Given the description of an element on the screen output the (x, y) to click on. 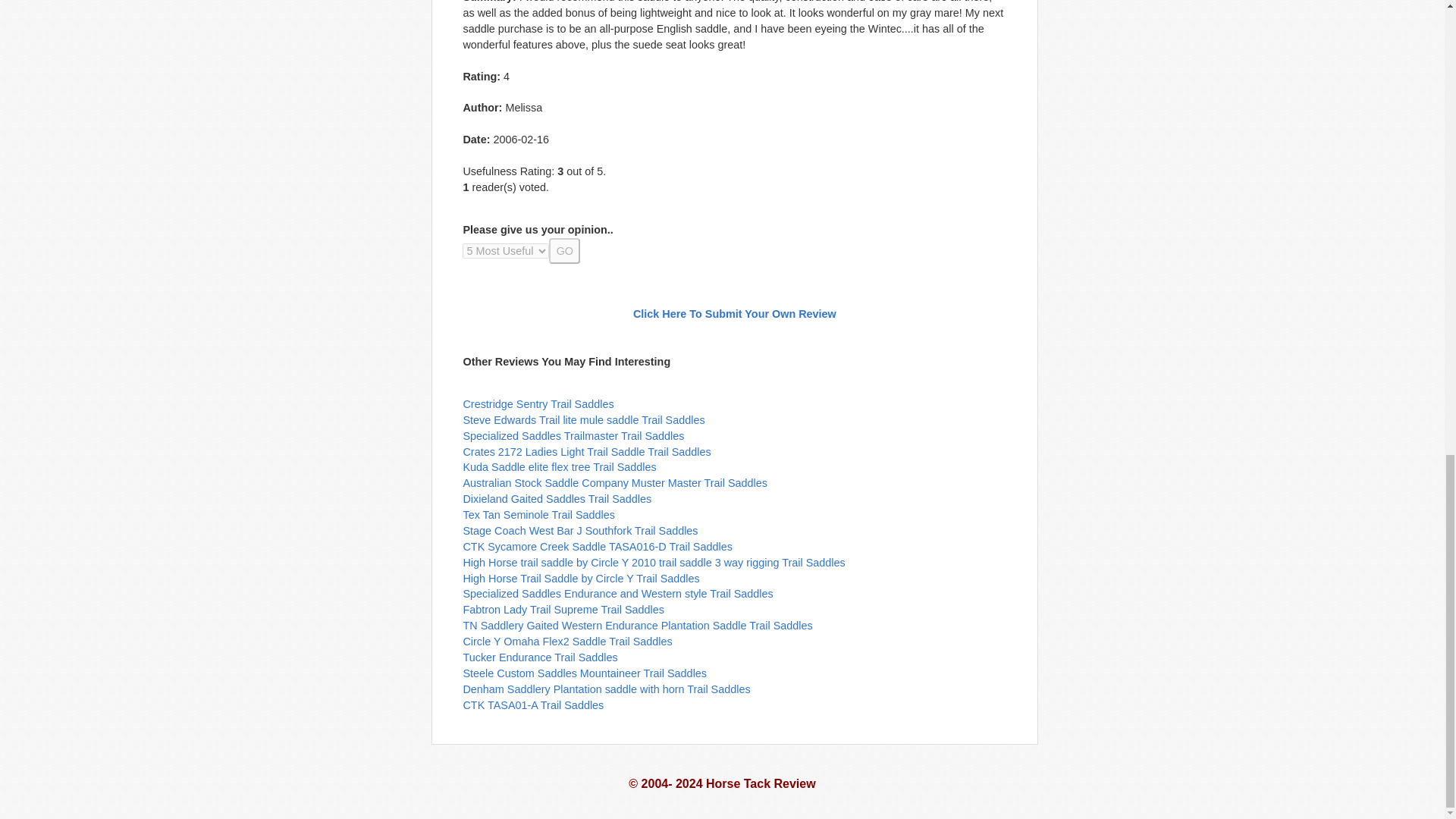
GO (563, 250)
